Given the description of an element on the screen output the (x, y) to click on. 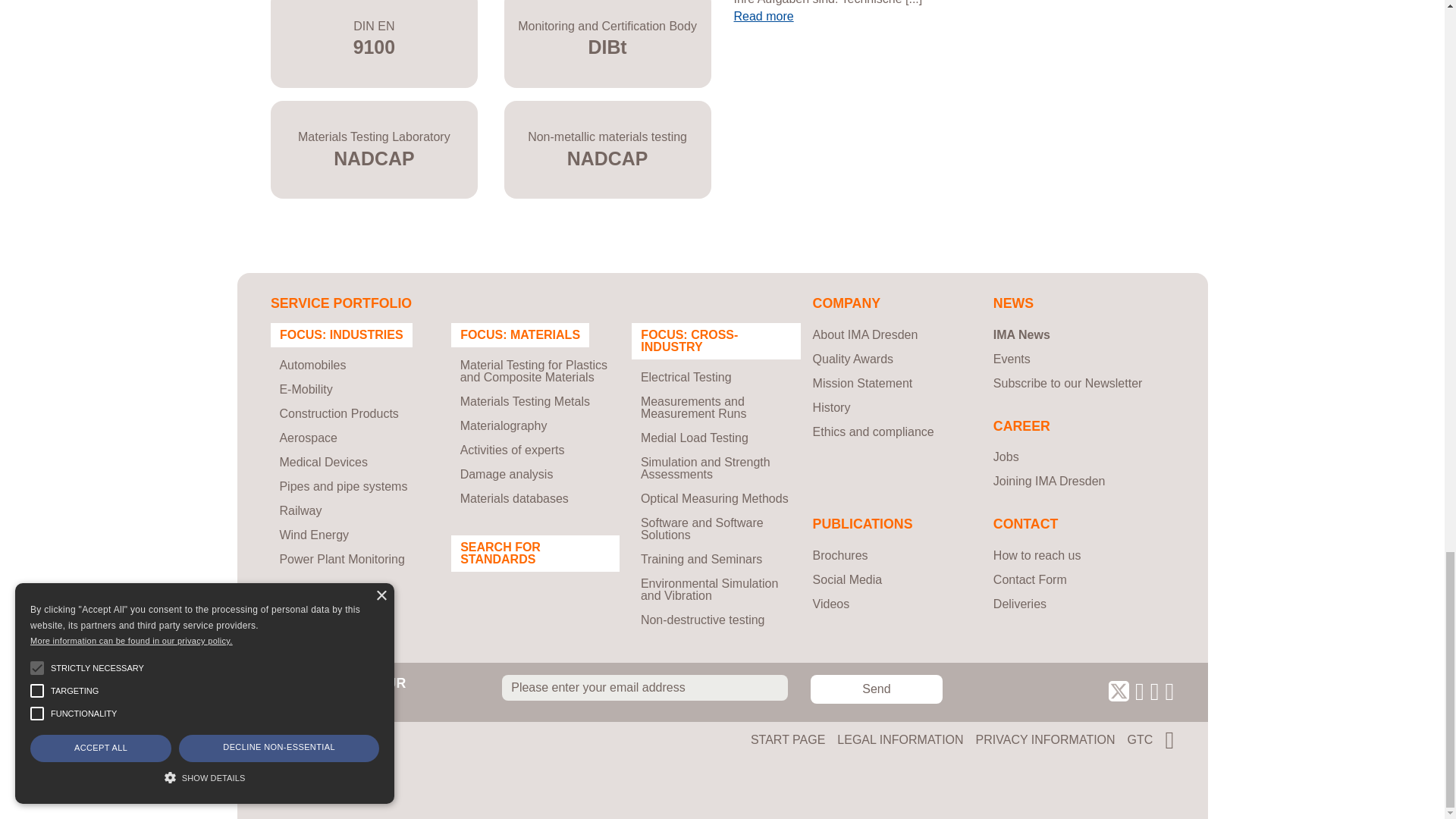
Please enter your email address (644, 687)
